Given the description of an element on the screen output the (x, y) to click on. 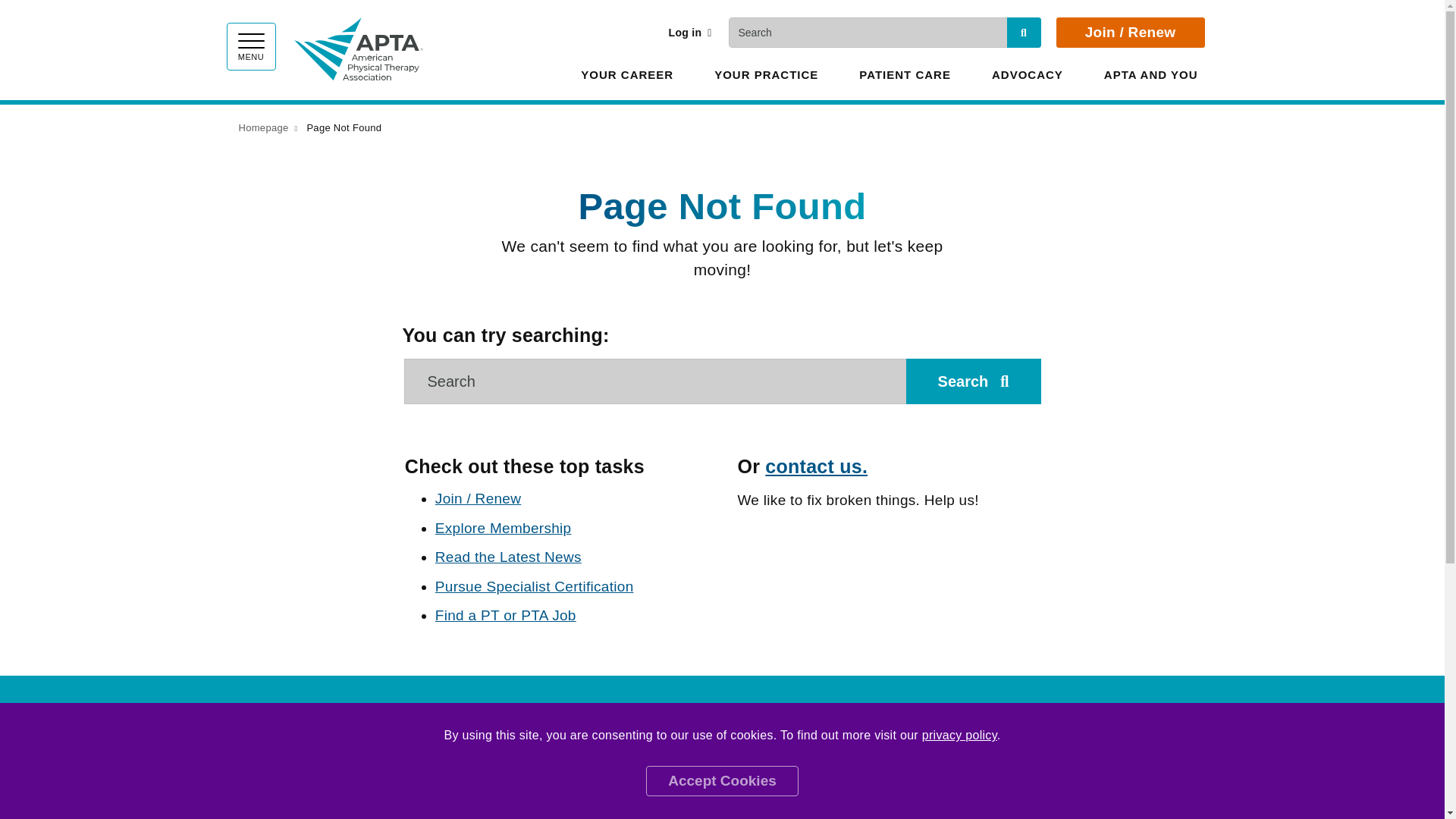
Contact APTA (816, 465)
APTA (358, 46)
privacy policy (959, 735)
MENU (250, 46)
